Given the description of an element on the screen output the (x, y) to click on. 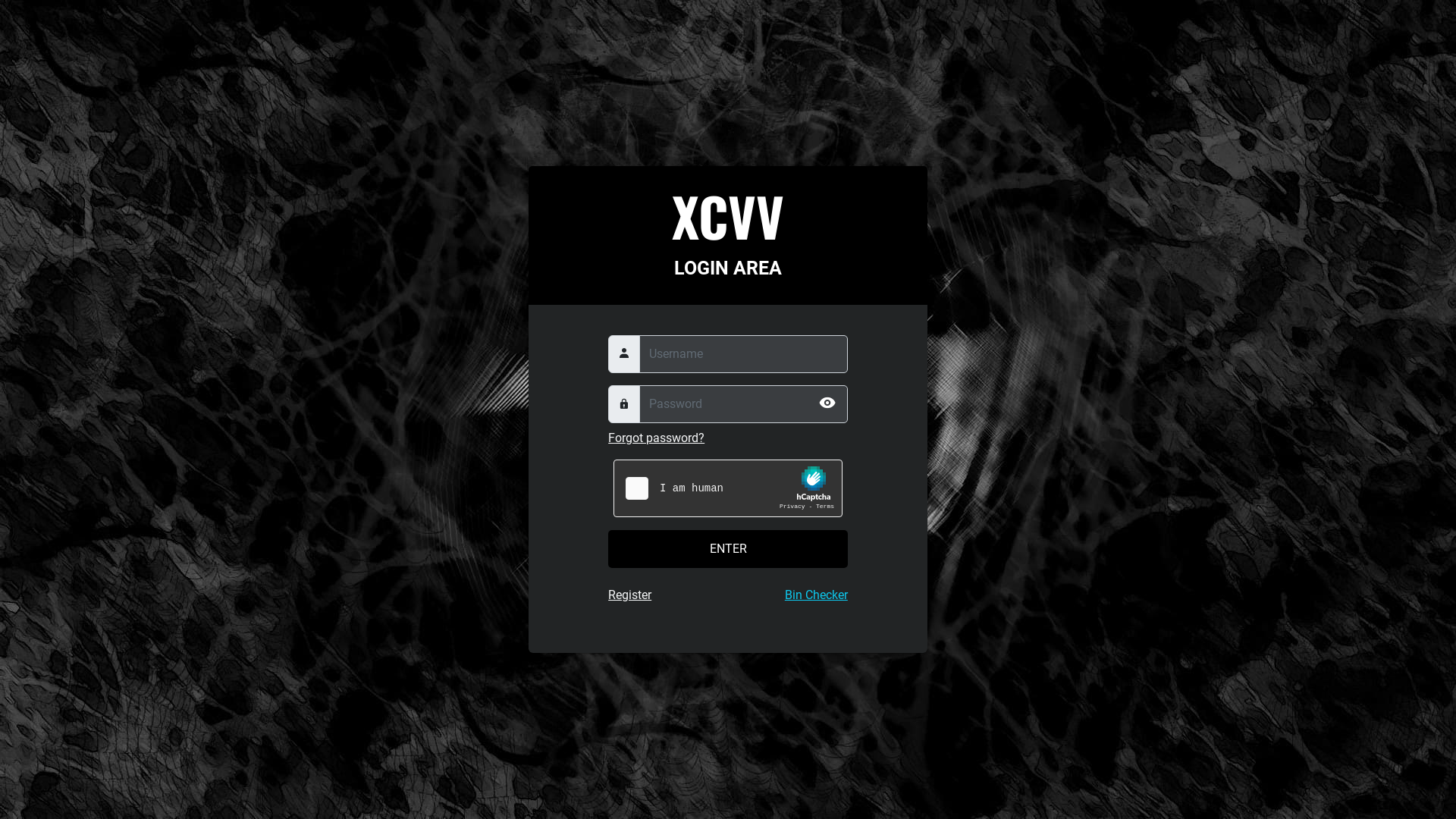
Widget containing checkbox for hCaptcha security challenge Element type: hover (727, 488)
XCVV Element type: text (727, 214)
ENTER Element type: text (727, 548)
Register Element type: text (629, 594)
Forgot password? Element type: text (656, 437)
Bin Checker Element type: text (815, 594)
